Given the description of an element on the screen output the (x, y) to click on. 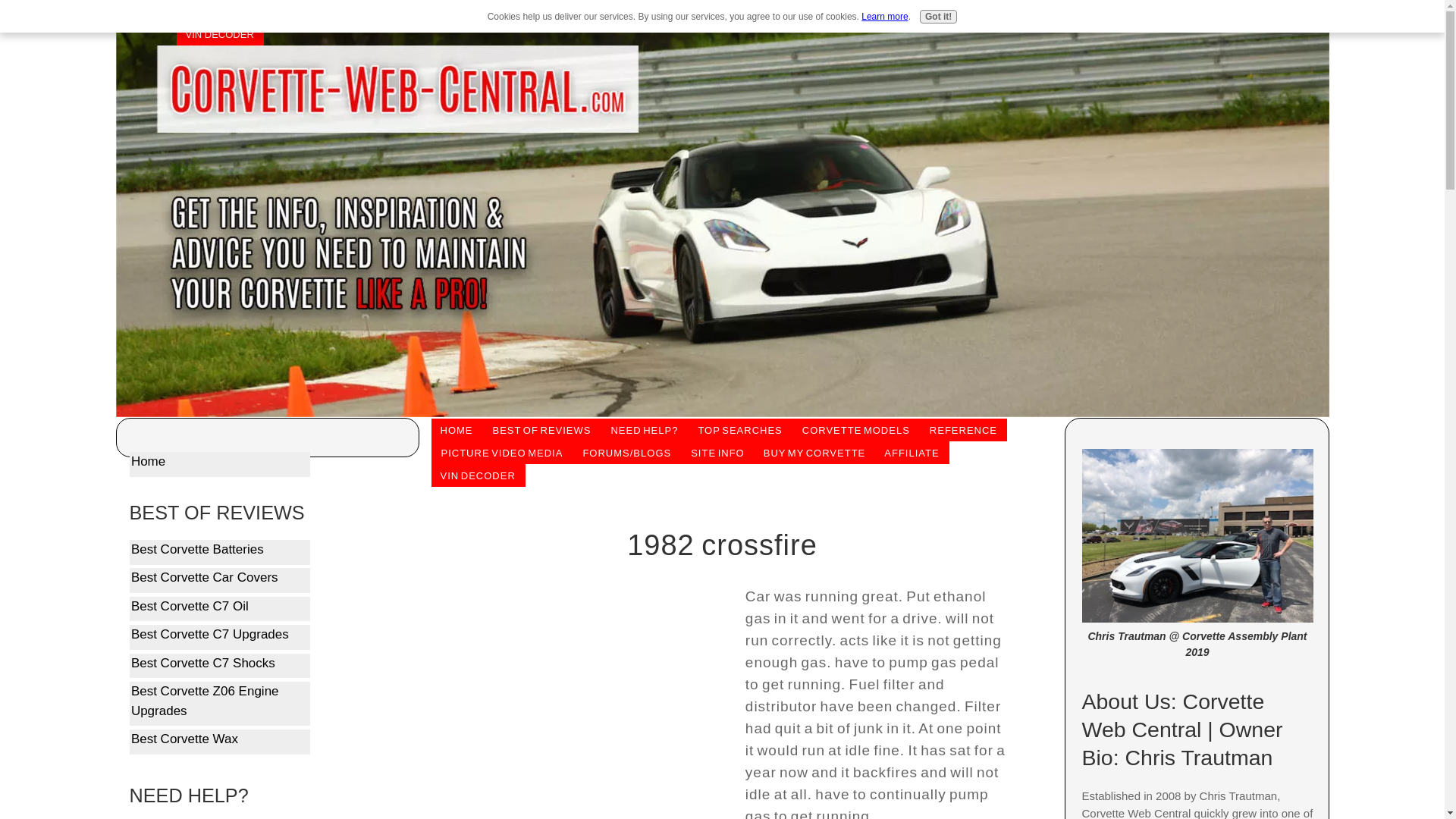
Advertisement (584, 697)
HOME (200, 11)
